Given the description of an element on the screen output the (x, y) to click on. 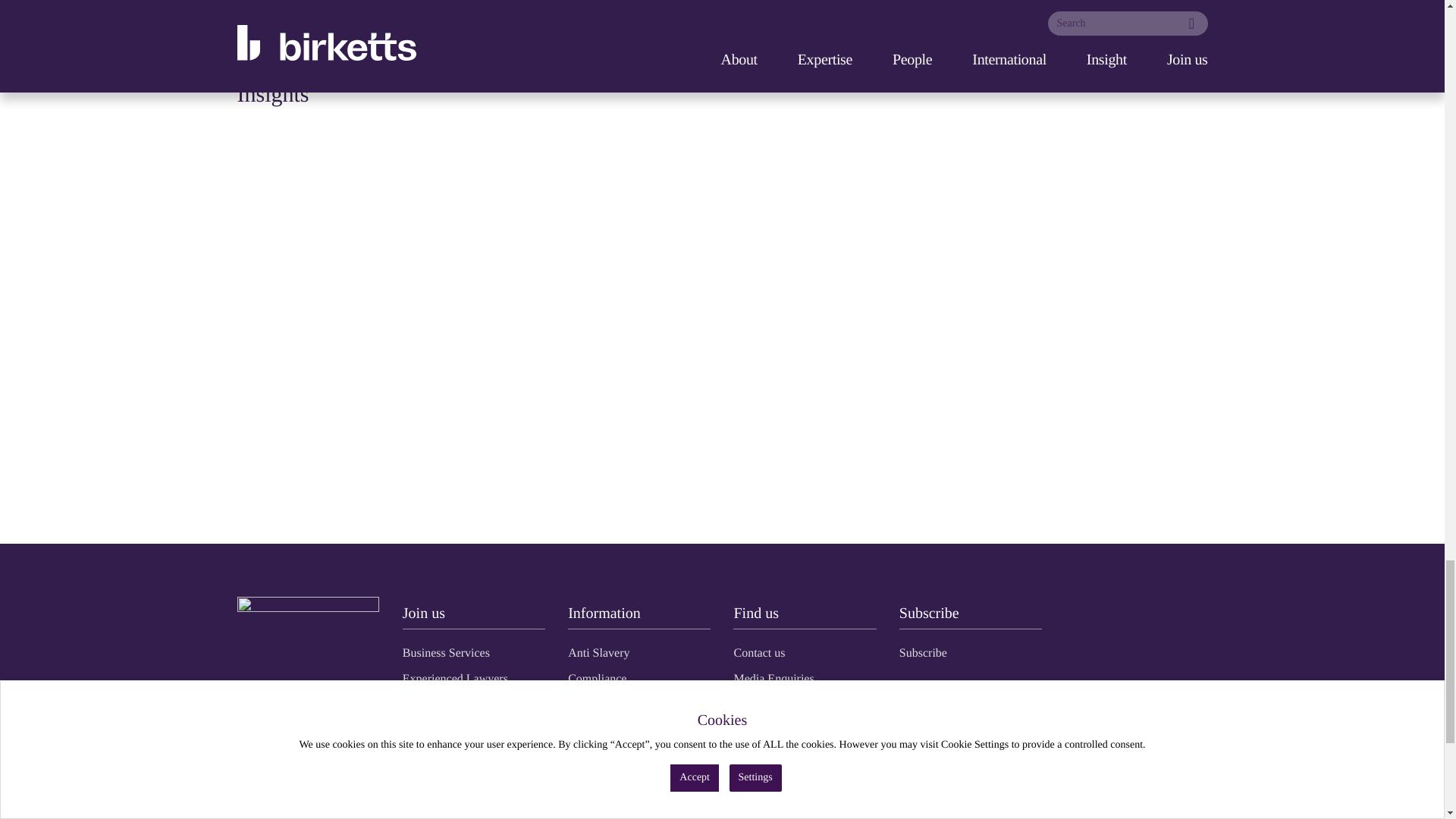
Legal Notices (600, 780)
Graduates (427, 703)
Compliance (596, 677)
Fees (578, 703)
Our People (760, 703)
Manage Cookies (608, 807)
Media Enquiries (773, 677)
Anti Slavery  (597, 652)
Subscribe (923, 652)
Experienced Lawyers (455, 677)
